Given the description of an element on the screen output the (x, y) to click on. 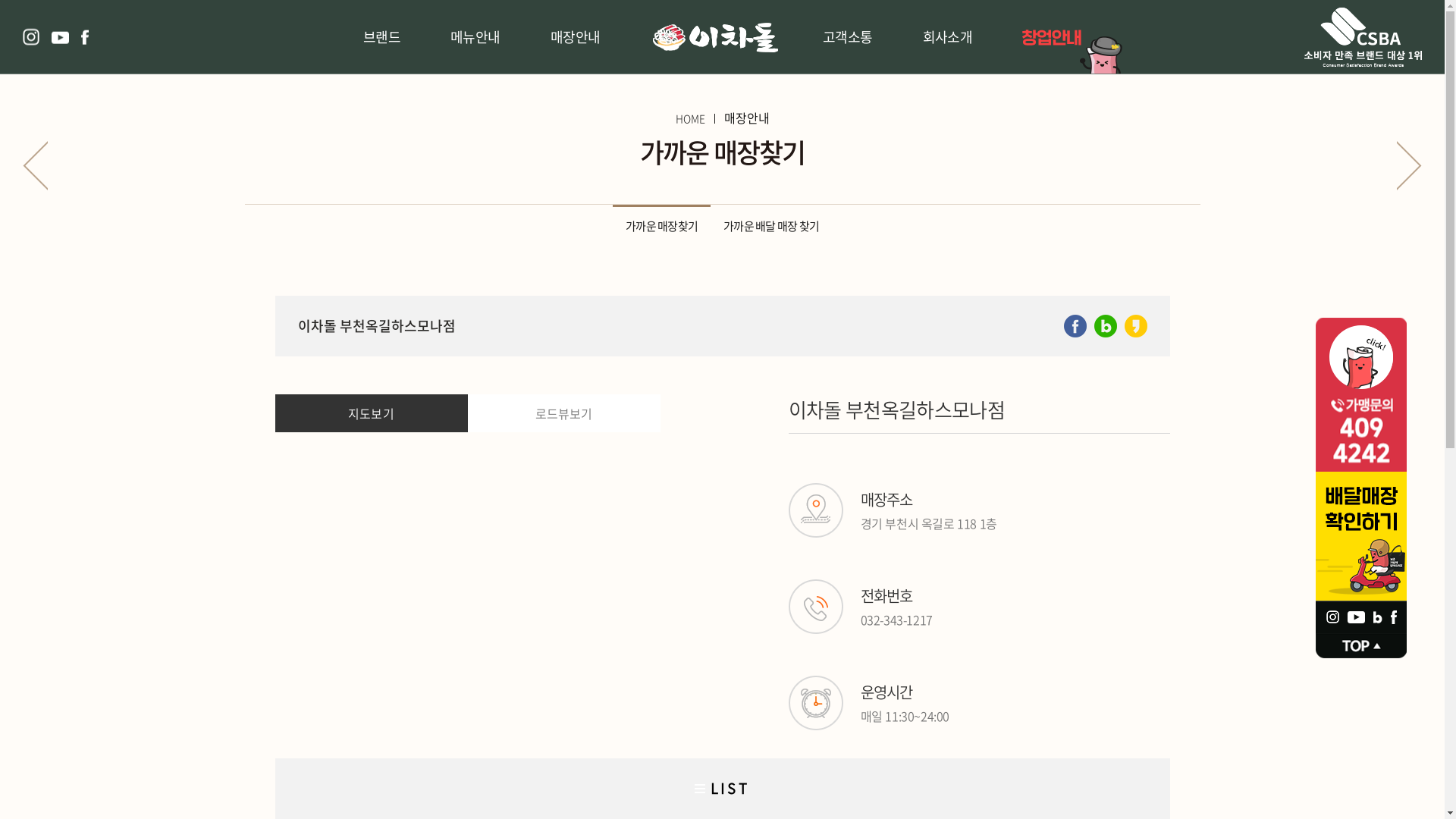
HOME Element type: text (689, 117)
